Given the description of an element on the screen output the (x, y) to click on. 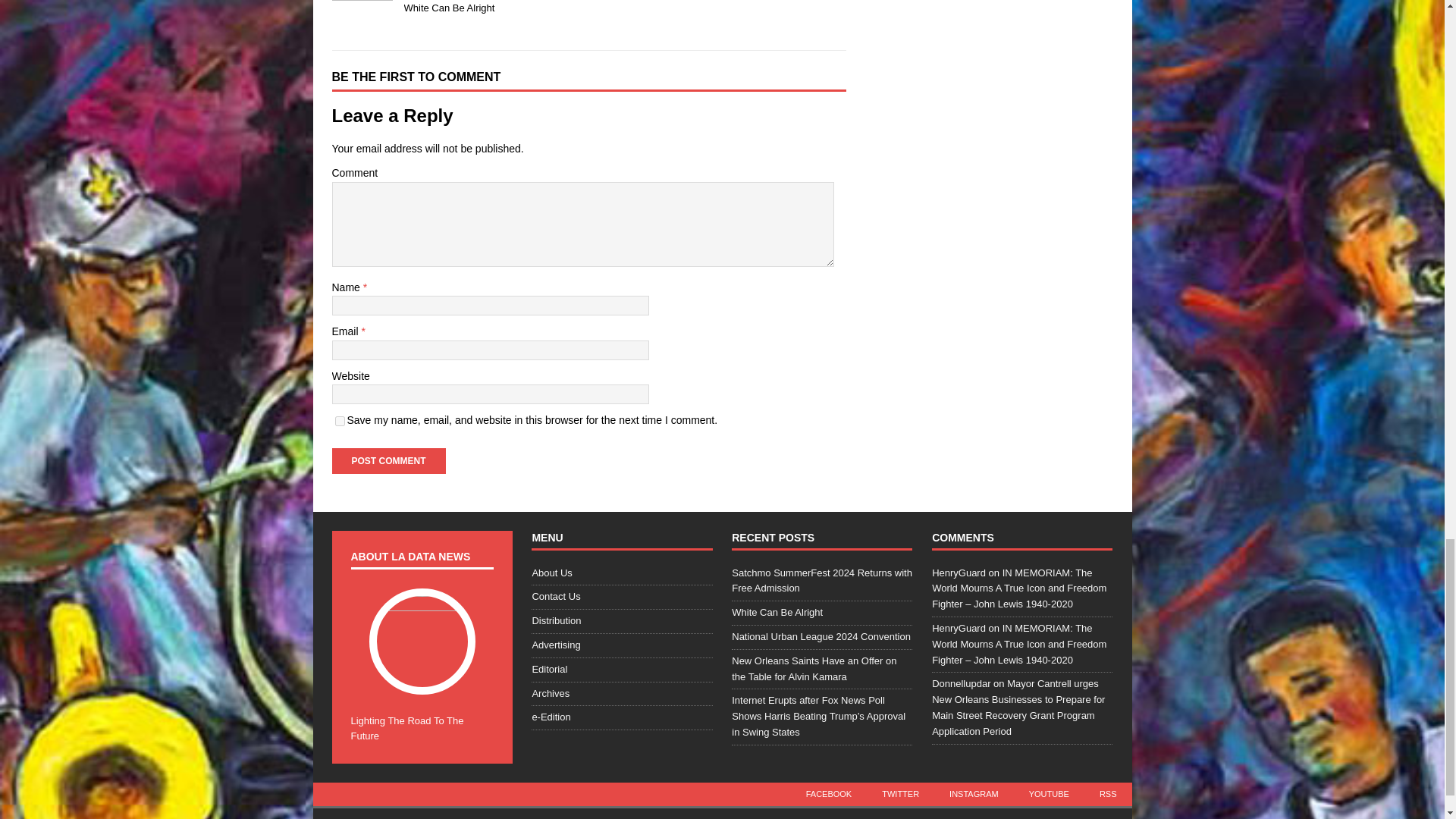
Post Comment (388, 460)
yes (339, 420)
